Given the description of an element on the screen output the (x, y) to click on. 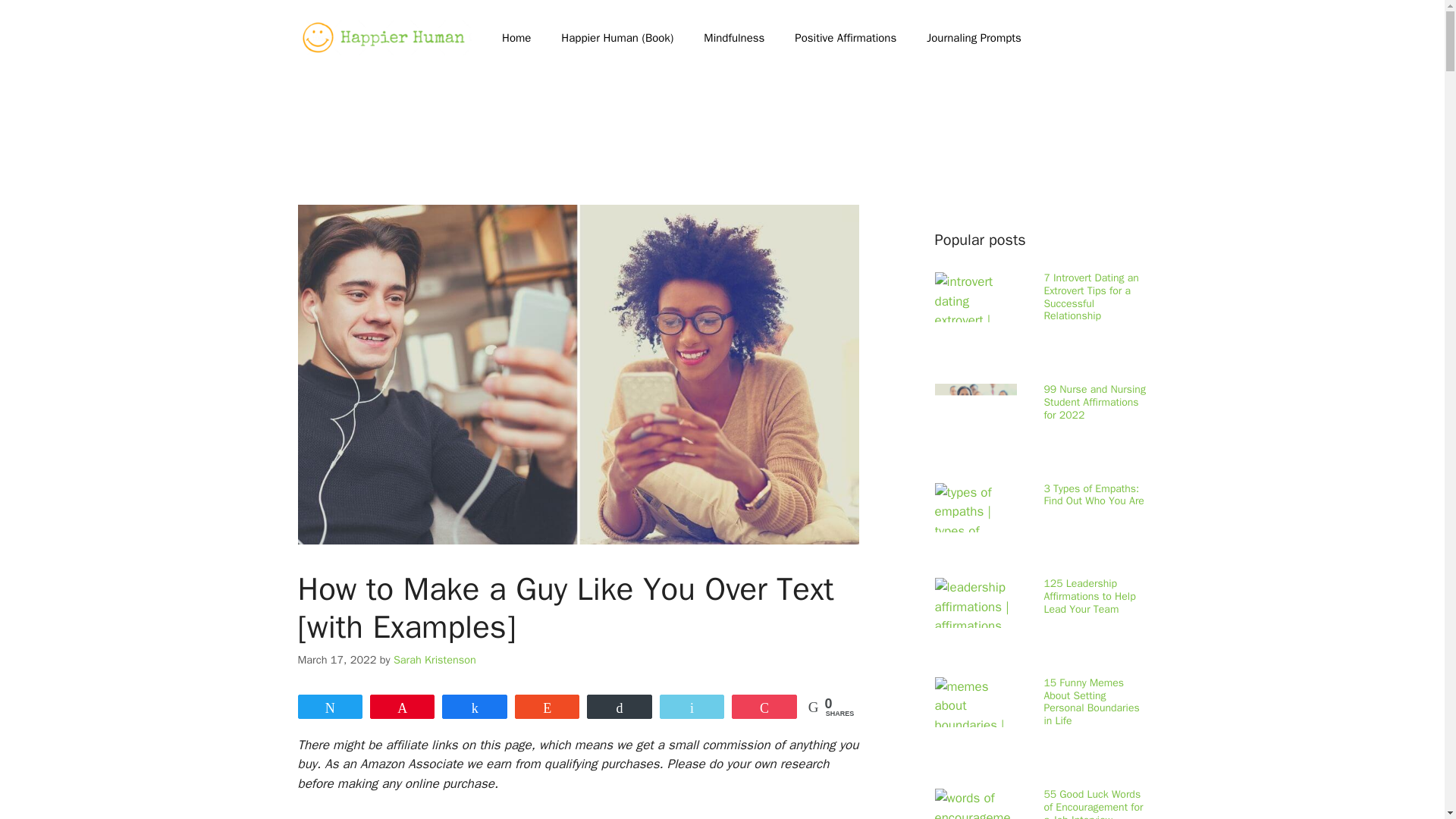
Happier Human (384, 36)
Mindfulness (733, 37)
Happier Human (384, 37)
Journaling Prompts (973, 37)
Home (516, 37)
View all posts by Sarah Kristenson (434, 659)
Positive Affirmations (844, 37)
Sarah Kristenson (434, 659)
